Given the description of an element on the screen output the (x, y) to click on. 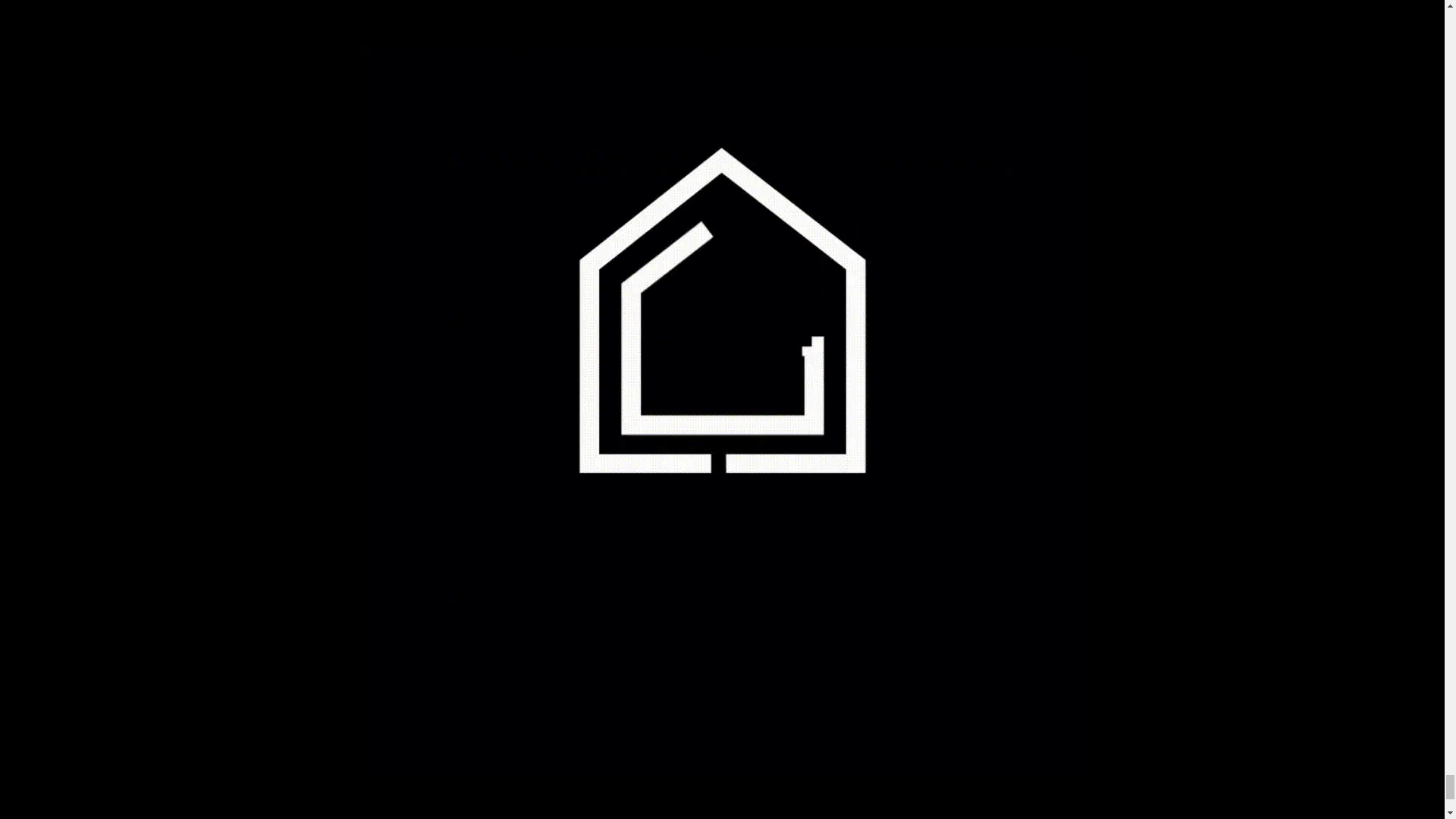
on (802, 706)
